Given the description of an element on the screen output the (x, y) to click on. 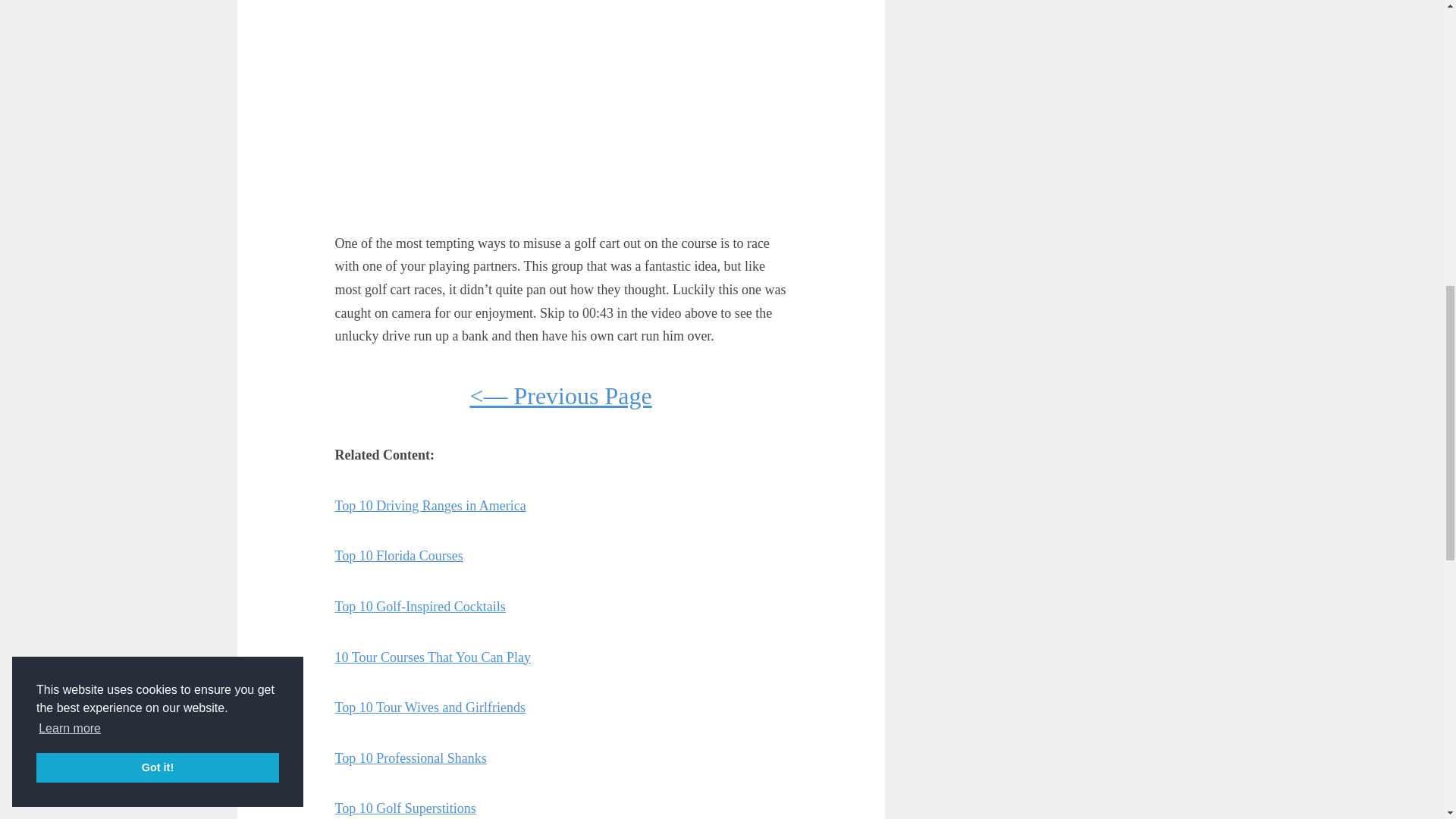
Top 10 Golf-Inspired Cocktails (419, 606)
Top 10 Florida Courses (398, 555)
Top 10 Tour Wives and Girlfriends (429, 707)
Top 10 Driving Ranges in America (429, 505)
Top 10 Golf Superstitions (405, 807)
Top 10 Professional Shanks (410, 758)
10 Tour Courses That You Can Play (432, 657)
